Given the description of an element on the screen output the (x, y) to click on. 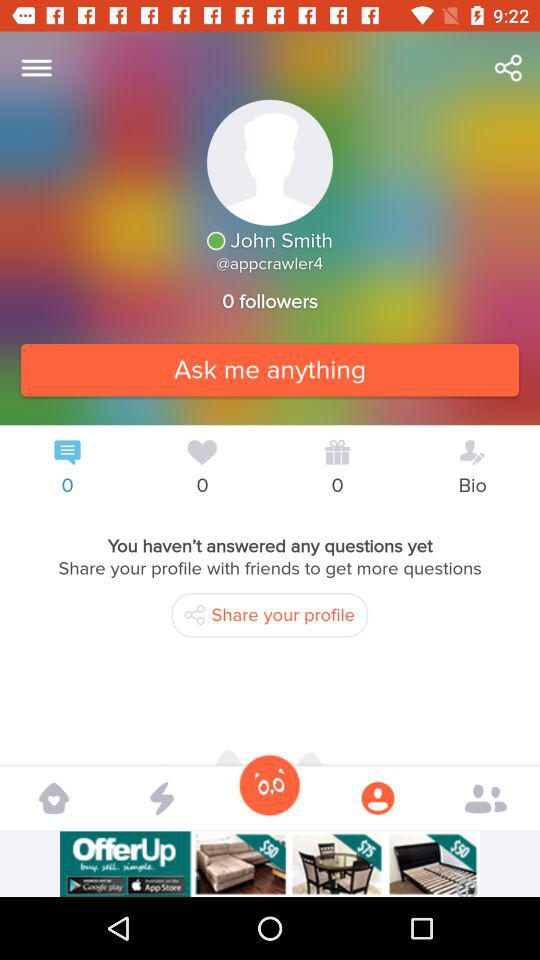
click on the icon which on the right side corner at the bottom (485, 797)
click on the icon which is on the second right side corner at the bottom (377, 797)
click the share your profile button (269, 615)
select the icon to the left the user icon (269, 784)
select the button which says ask me anything (269, 369)
click on the icon which is just beside the john smith (215, 240)
